Given the description of an element on the screen output the (x, y) to click on. 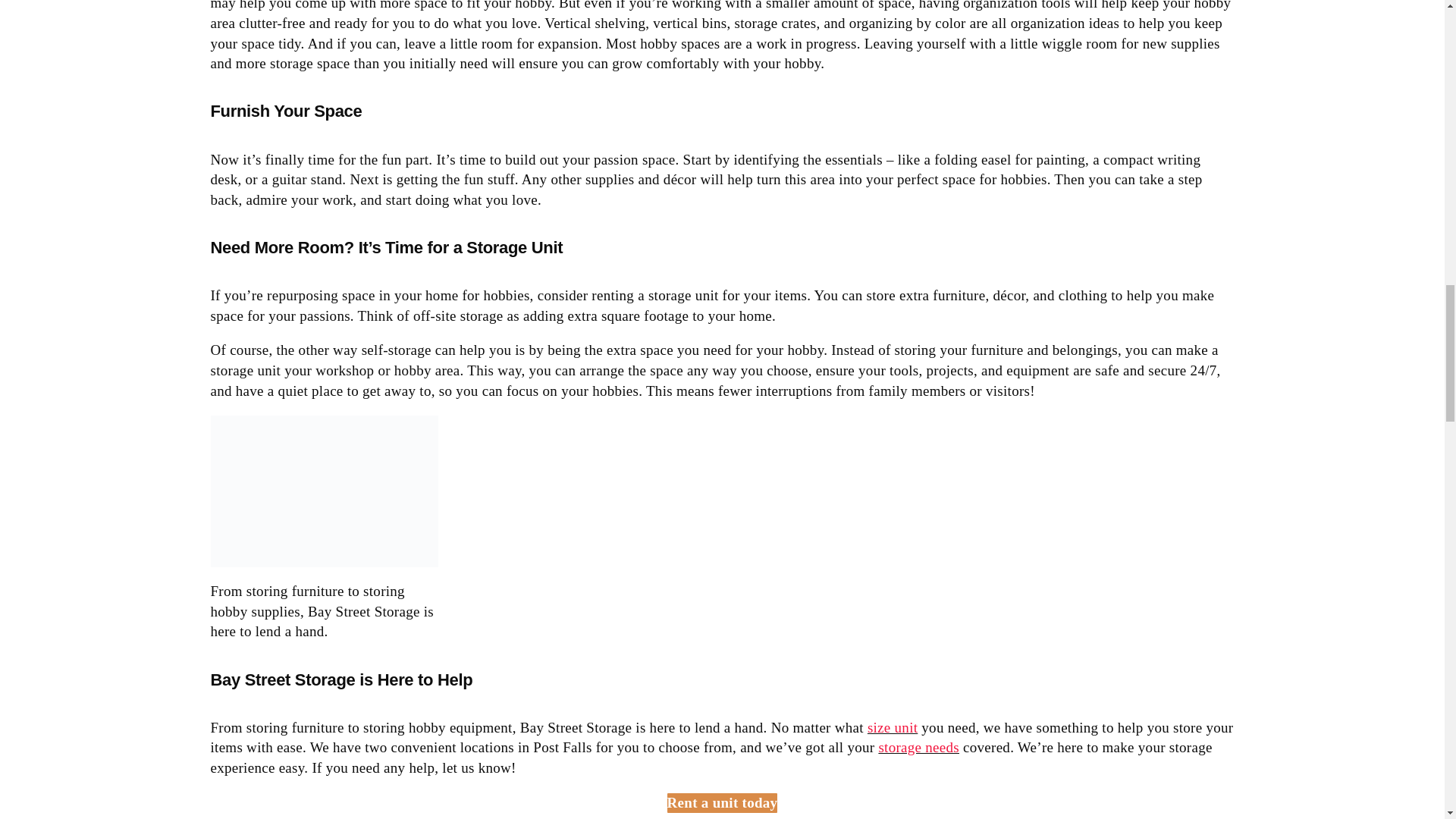
size unit (892, 727)
storage needs (918, 747)
